Given the description of an element on the screen output the (x, y) to click on. 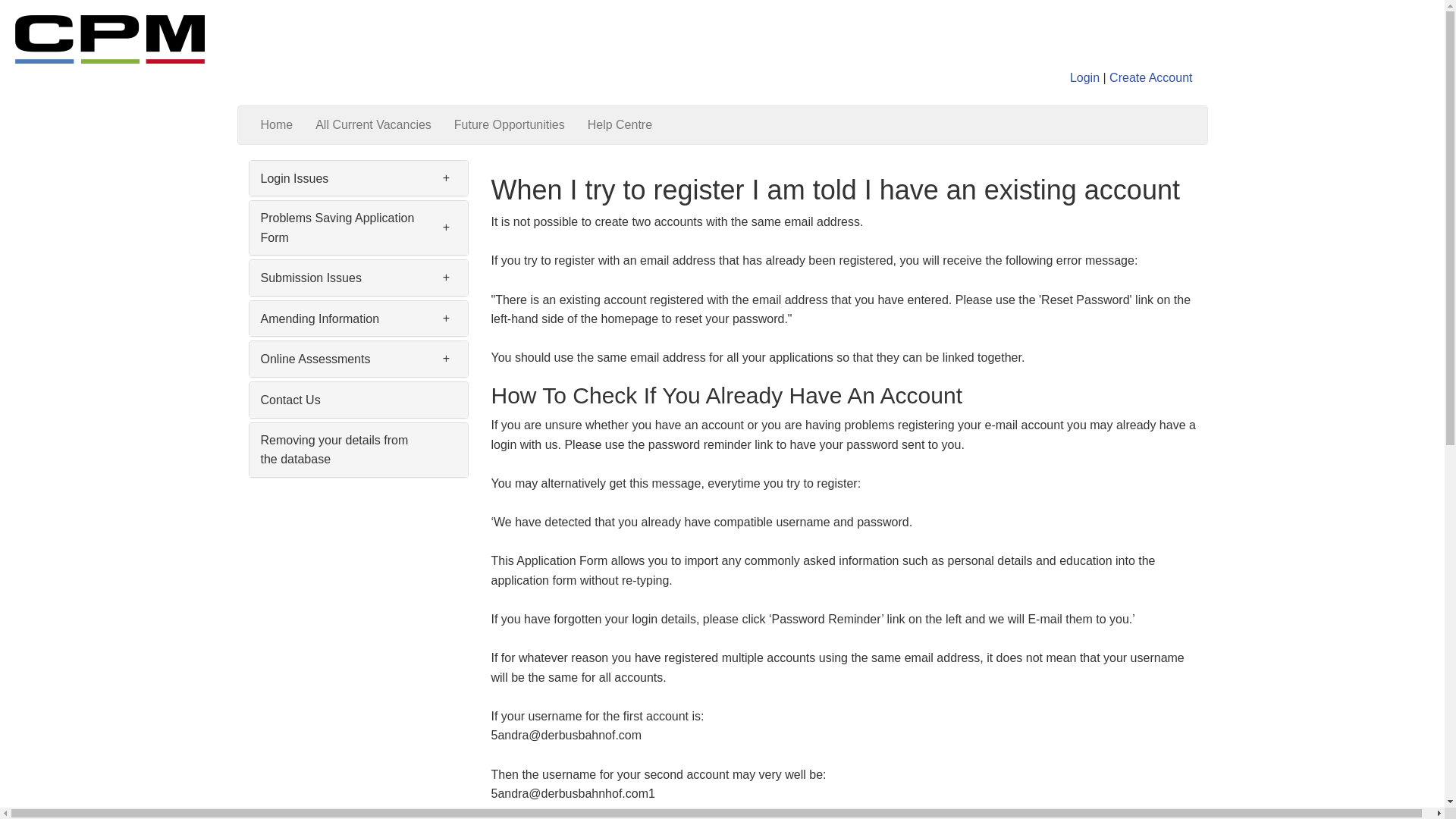
Help Centre (619, 125)
Home (276, 125)
Create Account (1150, 77)
Submission Issues (310, 277)
All Current Vacancies (373, 125)
Contact Us (290, 399)
Online Assessments (315, 358)
Problems Saving Application Form (337, 227)
Login (1084, 77)
Removing your details from the database (334, 450)
Future Opportunities (509, 125)
Login Issues (294, 178)
Amending Information (320, 318)
